Given the description of an element on the screen output the (x, y) to click on. 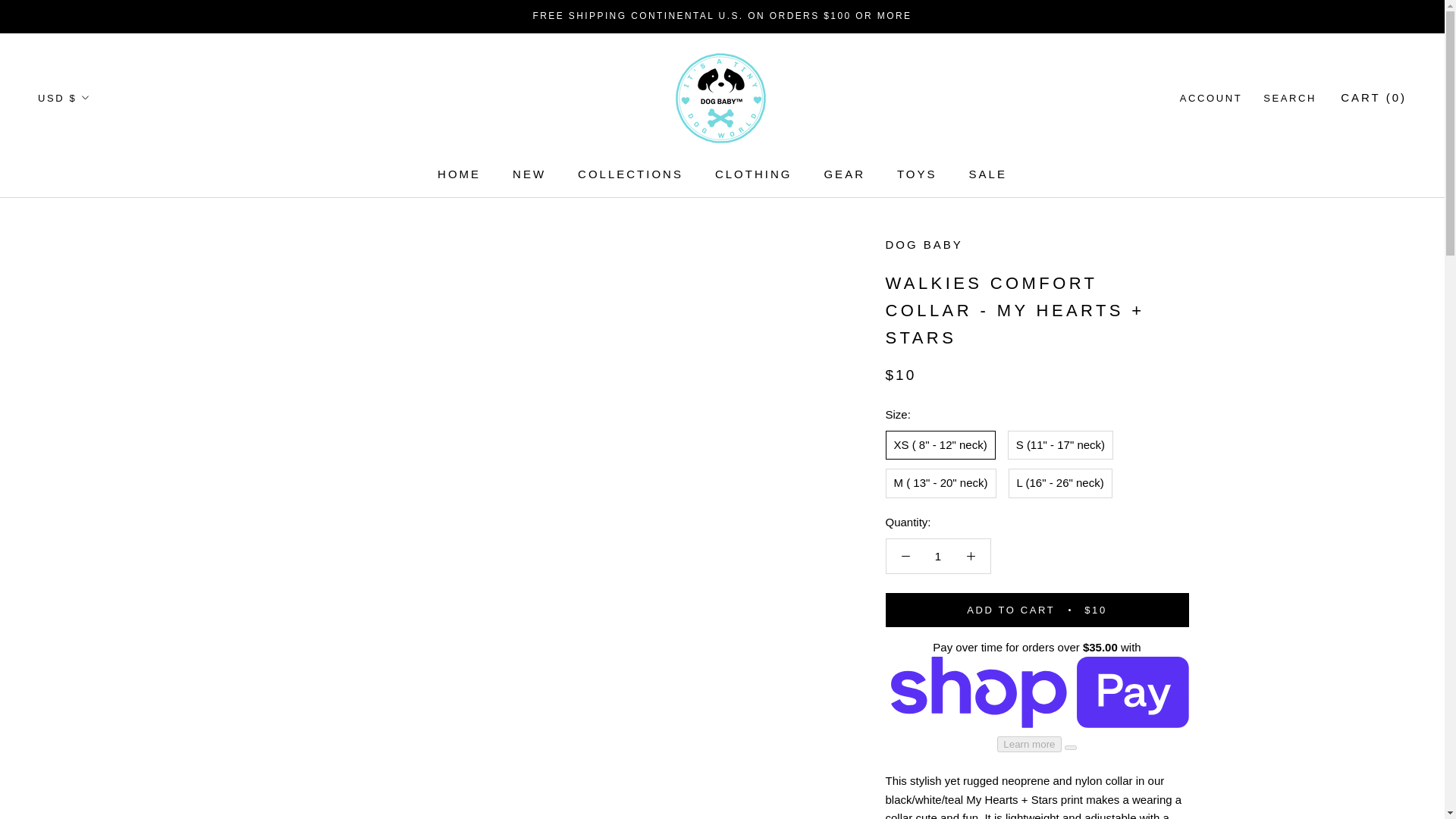
1 (938, 555)
